Given the description of an element on the screen output the (x, y) to click on. 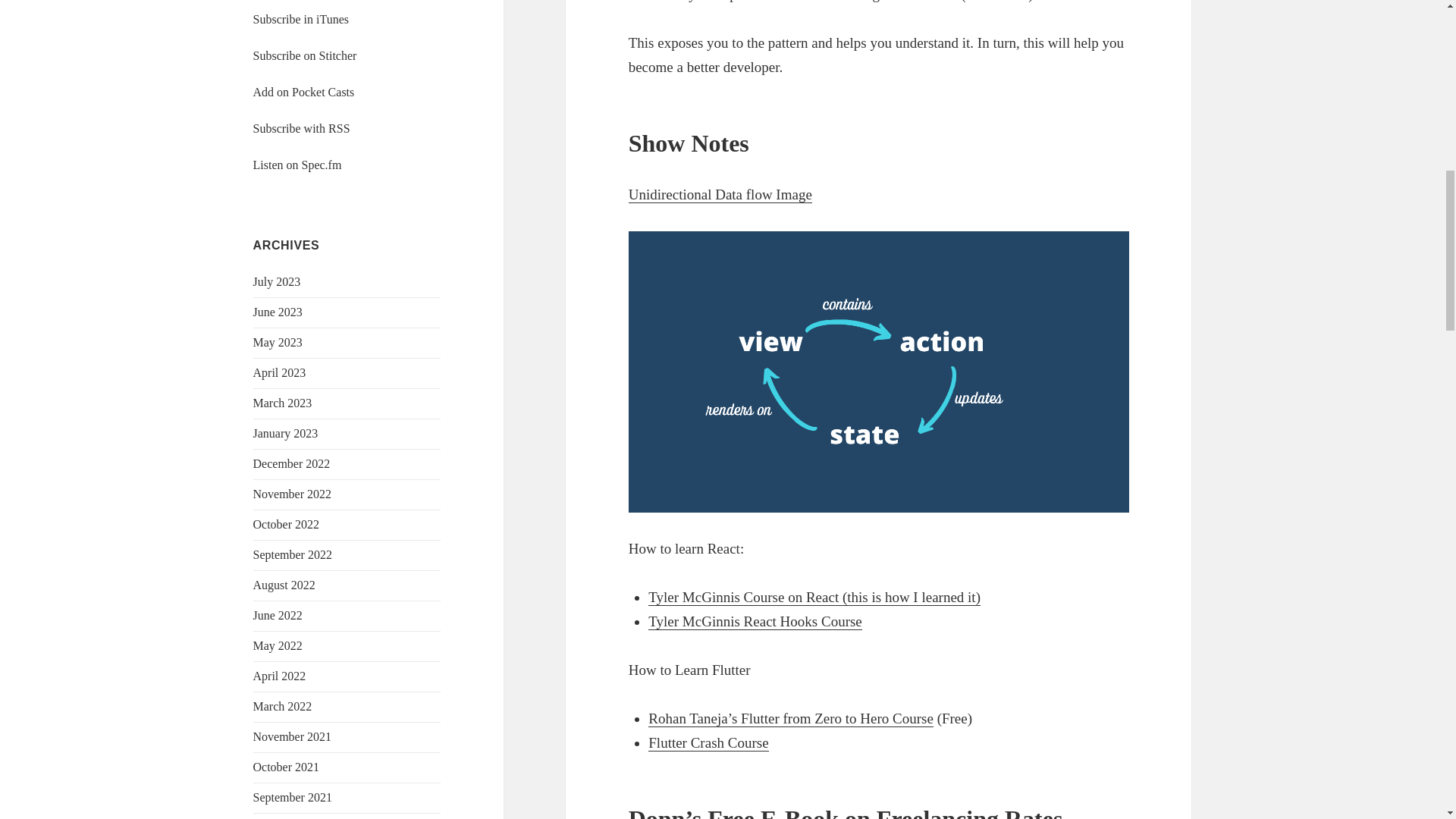
May 2022 (277, 645)
November 2022 (292, 493)
Subscribe with RSS (301, 128)
September 2022 (292, 554)
May 2023 (277, 341)
April 2023 (279, 372)
Subscribe in iTunes (301, 19)
Listen on Spec.fm (297, 164)
November 2021 (292, 736)
March 2023 (283, 402)
Add on Pocket Casts (304, 91)
March 2022 (283, 706)
July 2023 (277, 281)
June 2022 (277, 615)
June 2023 (277, 311)
